Given the description of an element on the screen output the (x, y) to click on. 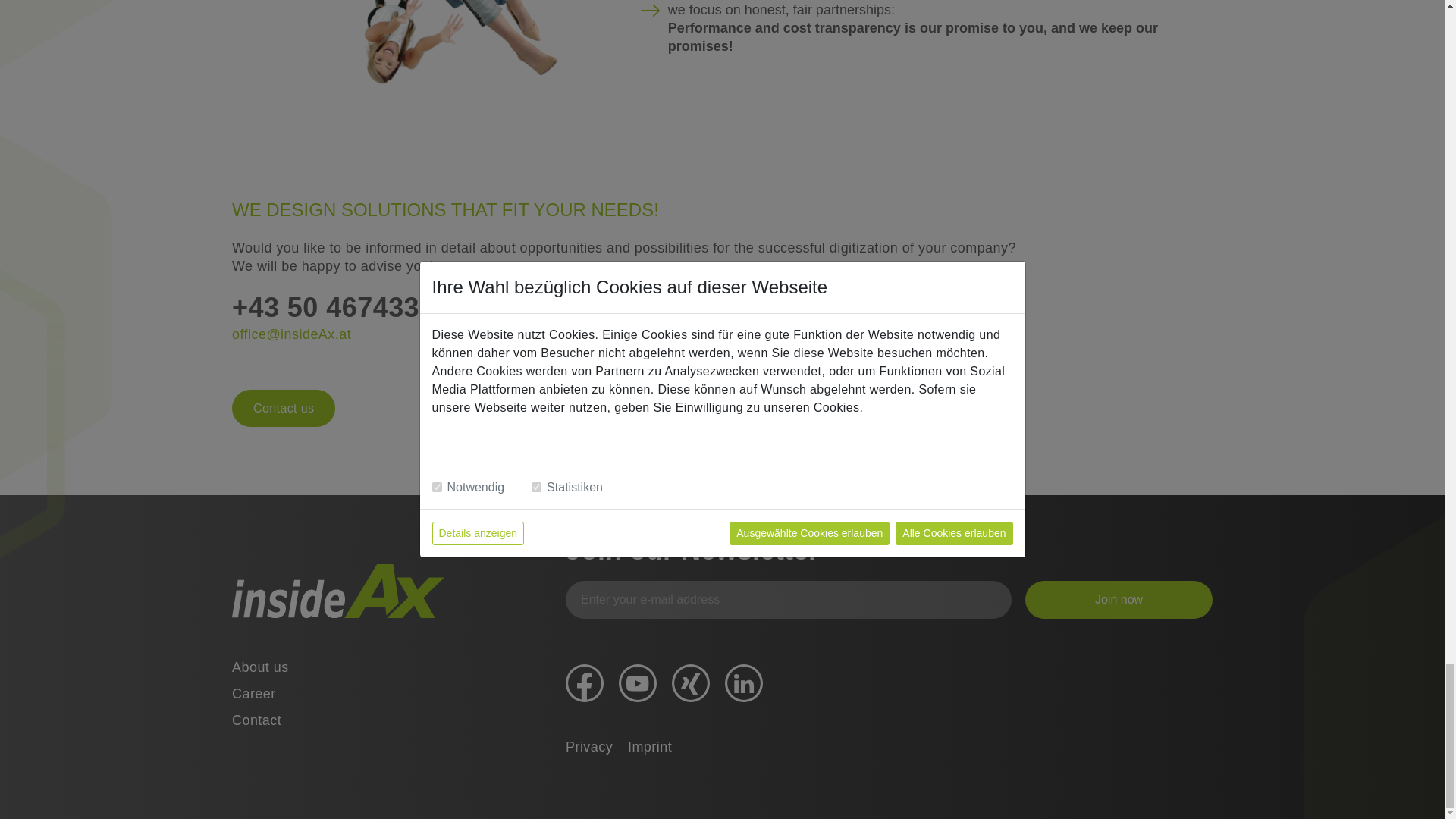
View on YouTube (637, 682)
View on Xing (690, 682)
View on Facebook (585, 682)
YouTube (637, 682)
Xing (690, 682)
View on LinkedIn (743, 682)
Facebook (585, 682)
LinkedIn (743, 682)
